Given the description of an element on the screen output the (x, y) to click on. 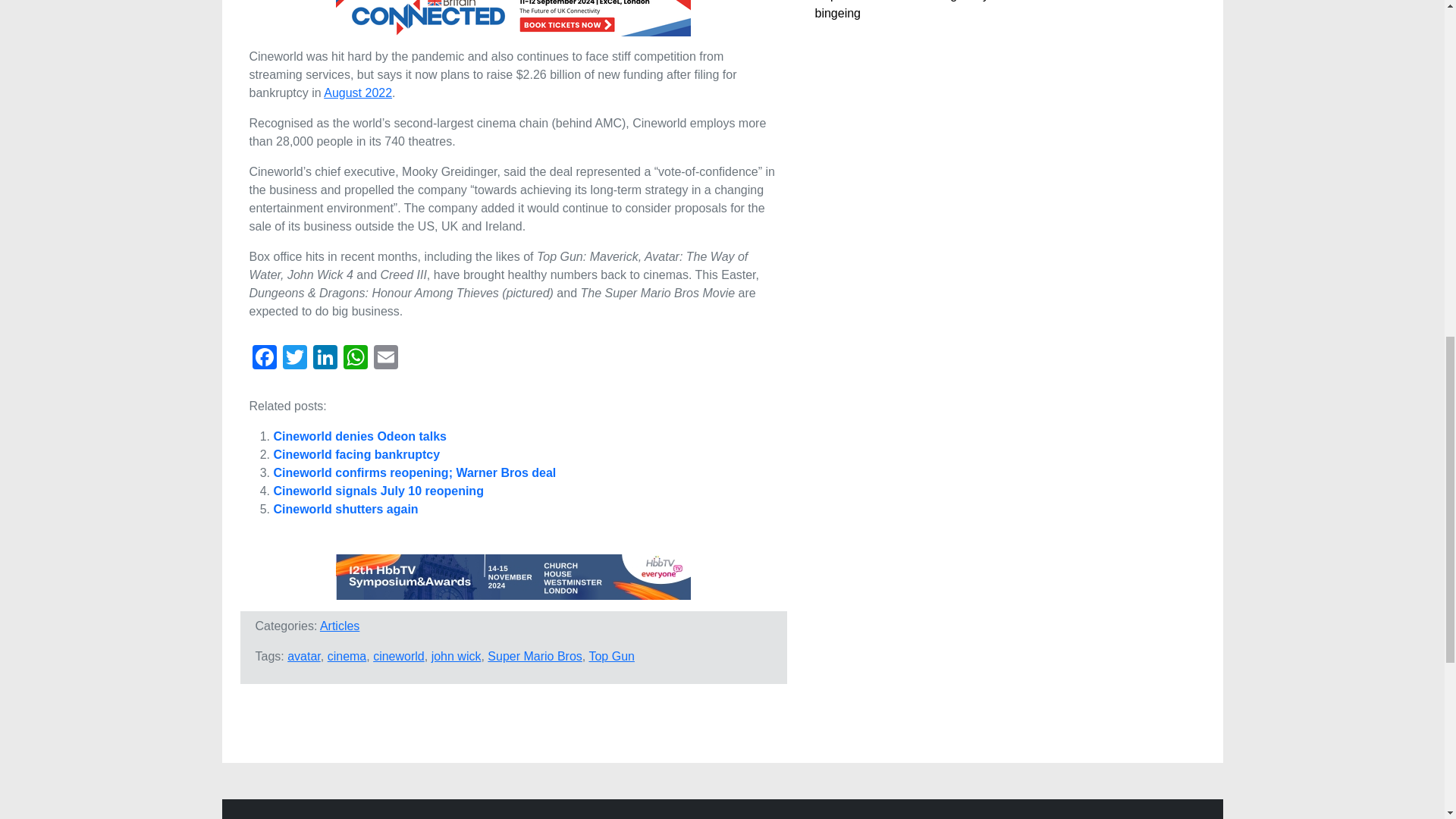
Cineworld shutters again (345, 508)
Email (384, 358)
Facebook (263, 358)
Cineworld shutters again (345, 508)
Cineworld confirms reopening; Warner Bros deal (414, 472)
Cineworld denies Odeon talks (359, 436)
Super Mario Bros (534, 656)
Articles (339, 625)
Twitter (293, 358)
Cineworld signals July 10 reopening (378, 490)
Cineworld confirms reopening; Warner Bros deal (414, 472)
Cineworld denies Odeon talks (359, 436)
LinkedIn (323, 358)
WhatsApp (354, 358)
Cineworld signals July 10 reopening (378, 490)
